Given the description of an element on the screen output the (x, y) to click on. 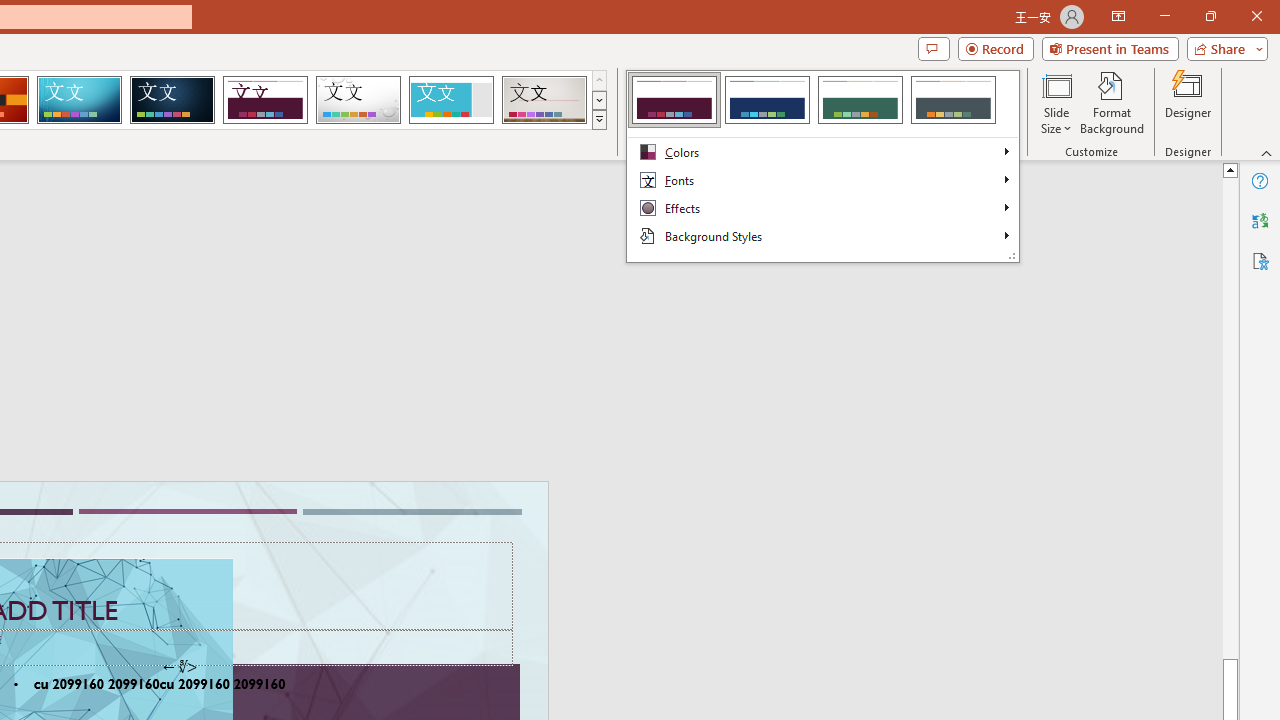
Gallery (544, 100)
Themes (598, 120)
Dividend (265, 100)
Class: Net UI Tool Window (822, 165)
Frame (450, 100)
Circuit (79, 100)
Page up (1230, 417)
Droplet (358, 100)
